Given the description of an element on the screen output the (x, y) to click on. 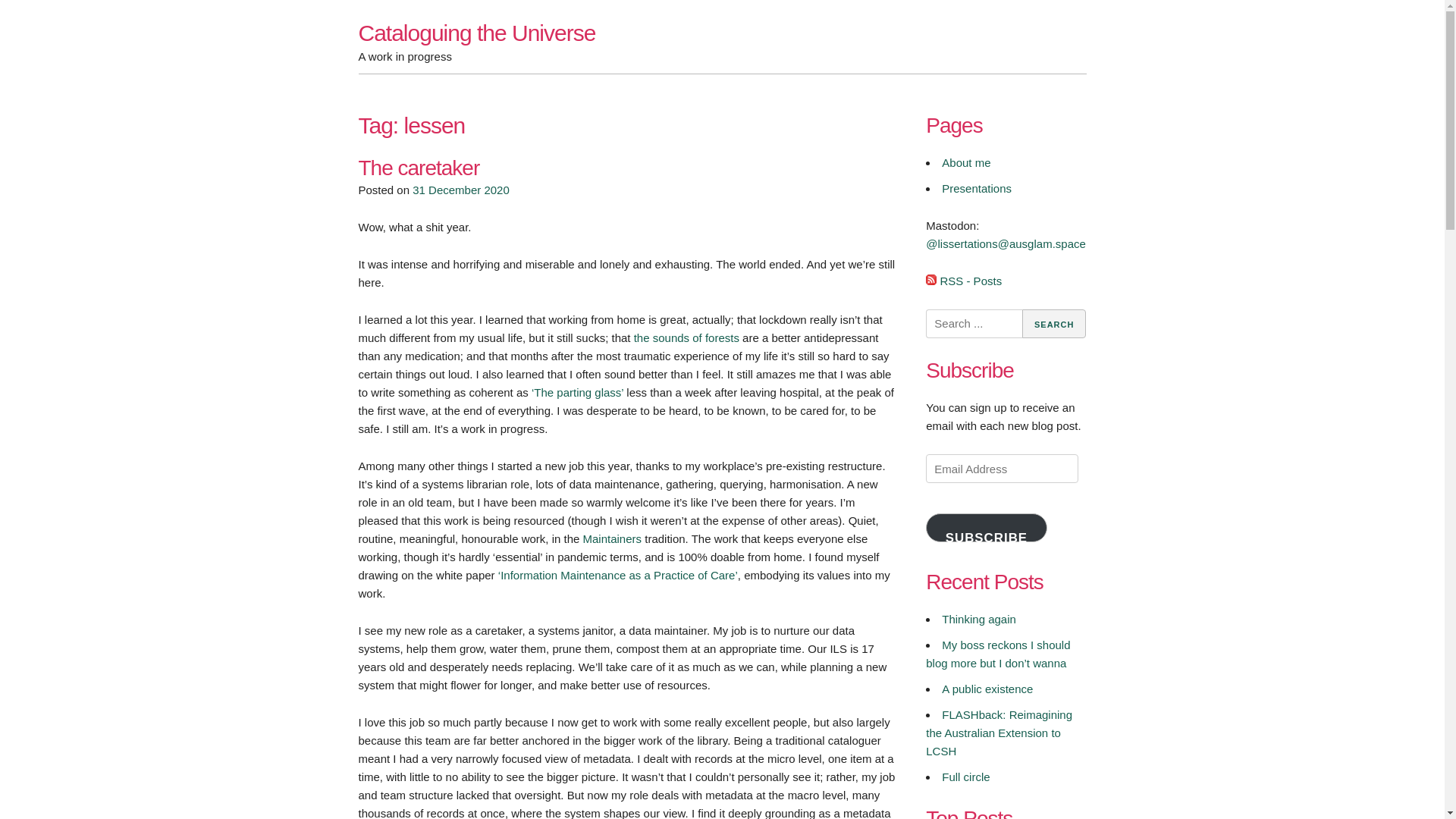
the sounds of forests (686, 336)
Cataloguing the Universe (476, 32)
31 December 2020 (460, 189)
Search (1054, 323)
Search (1054, 323)
Maintainers (612, 538)
 RSS - Posts (963, 280)
Subscribe to posts (963, 280)
About me (966, 162)
Thinking again (979, 618)
Presentations (976, 187)
The caretaker (418, 167)
SUBSCRIBE (986, 527)
Search (1054, 323)
Search for: (974, 323)
